Given the description of an element on the screen output the (x, y) to click on. 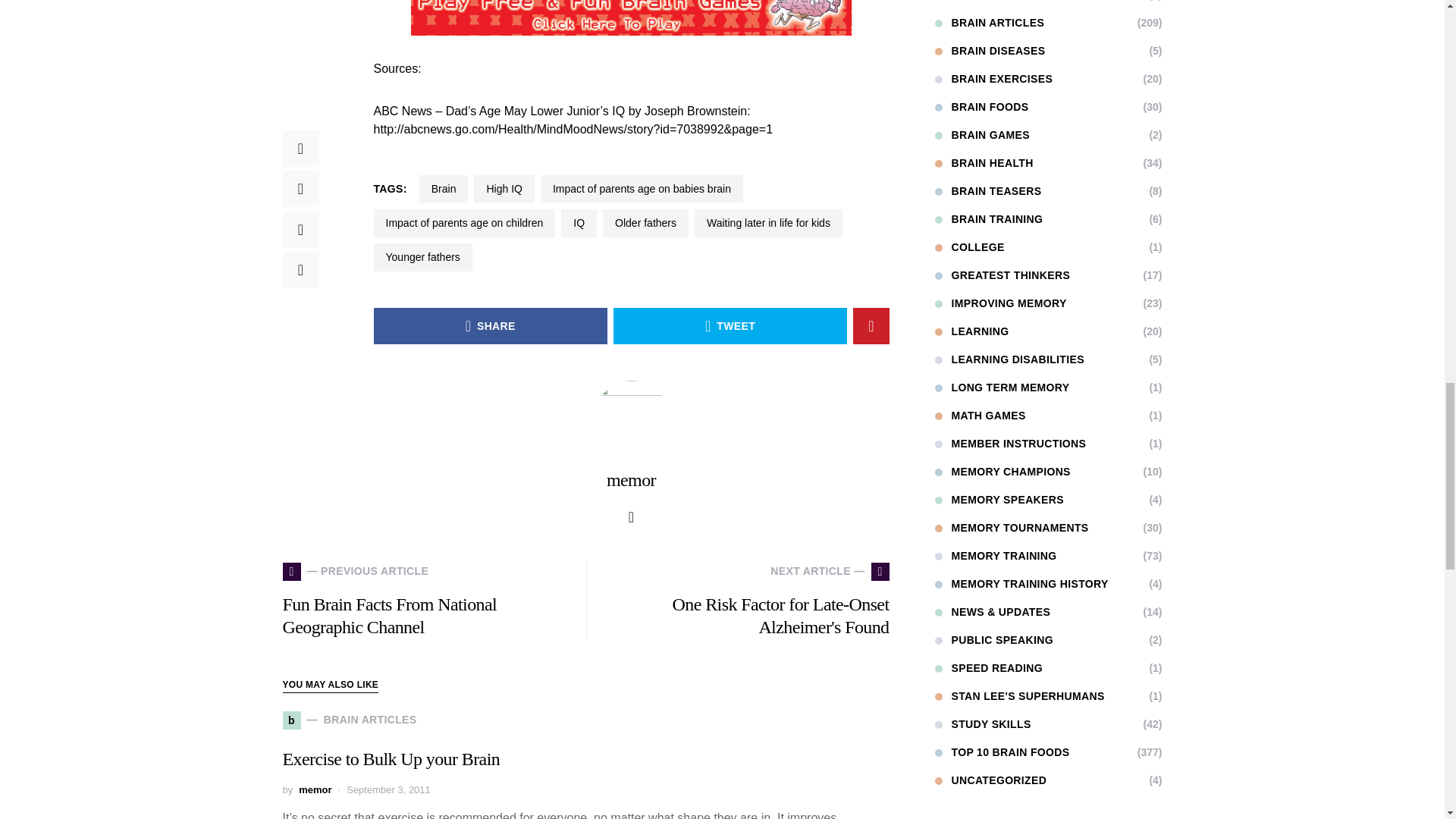
brain-banner2 (630, 18)
older fathers (645, 223)
impact of parents age on babies brain (641, 189)
impact of parents age on children (463, 223)
waiting later in life for kids (768, 223)
younger fathers (421, 257)
IQ (578, 223)
high IQ (504, 189)
View all posts by memor (314, 789)
brain (443, 189)
